Given the description of an element on the screen output the (x, y) to click on. 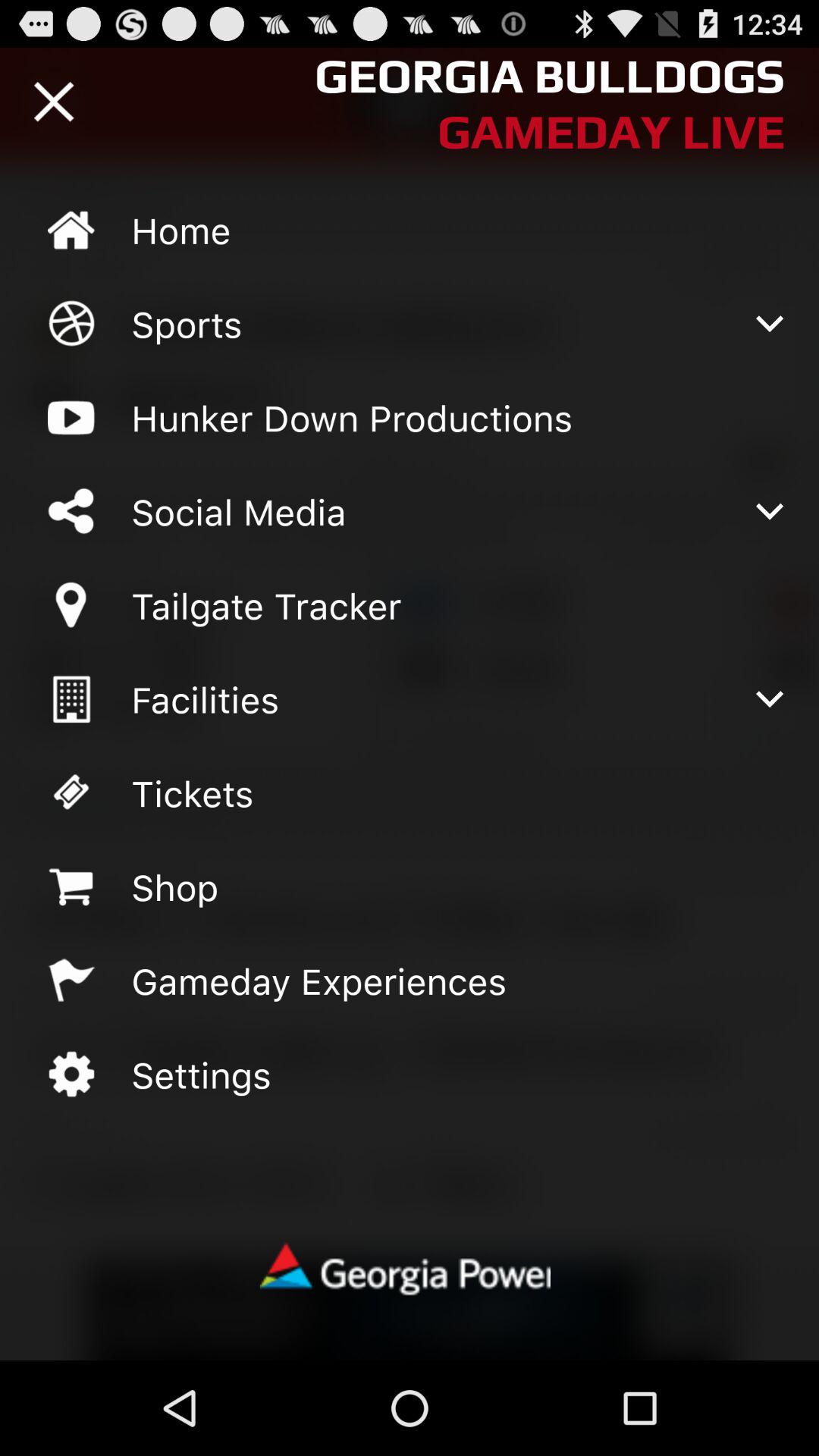
georgia power the article (408, 1270)
